Given the description of an element on the screen output the (x, y) to click on. 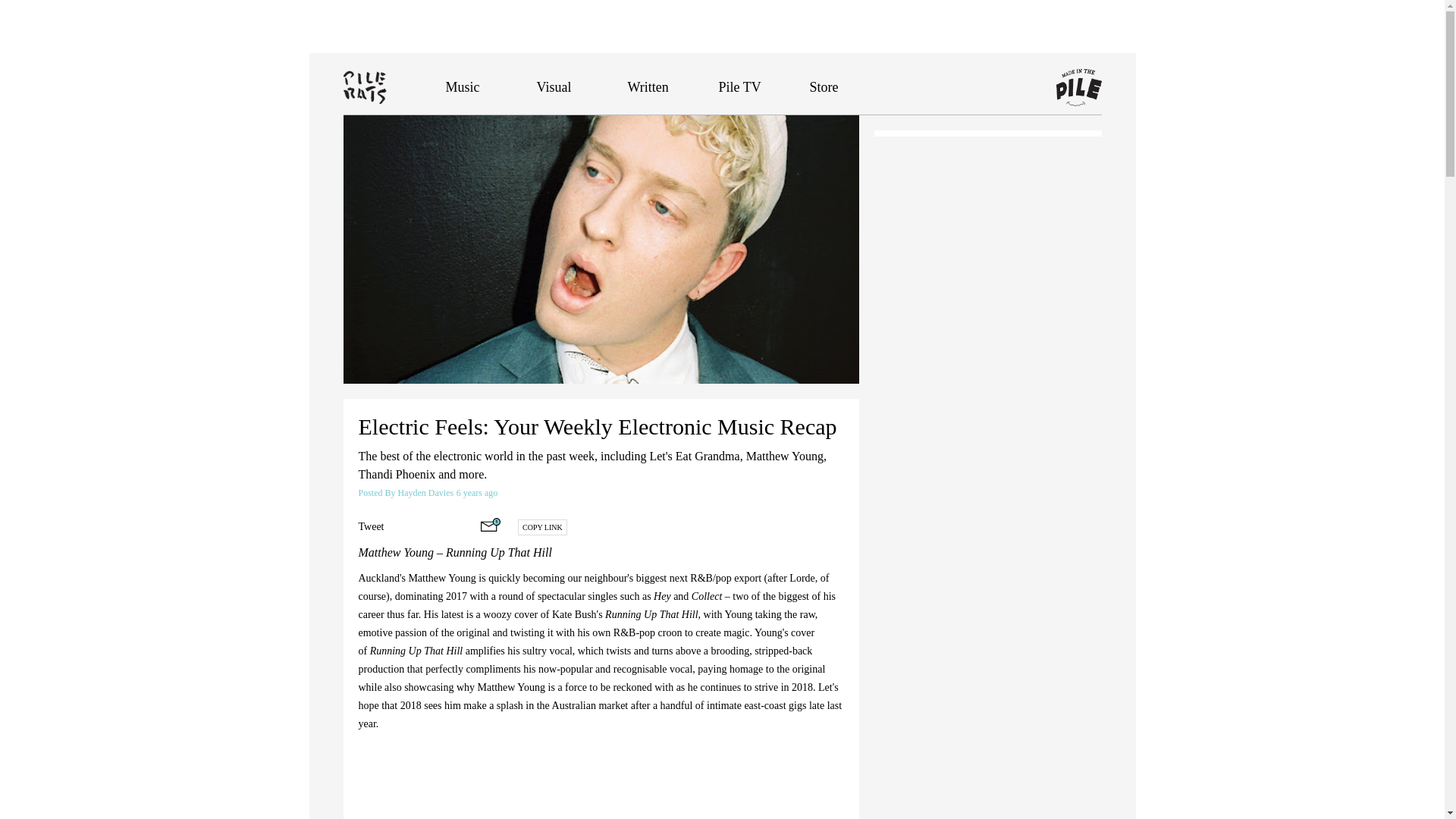
Pile TV (740, 86)
Home (393, 86)
Made In The Pile (1077, 87)
Made In The Pile (1077, 87)
Music (462, 86)
Share via email (490, 524)
Music (462, 86)
Written (647, 86)
Pile TV (740, 86)
Visual (554, 86)
